Given the description of an element on the screen output the (x, y) to click on. 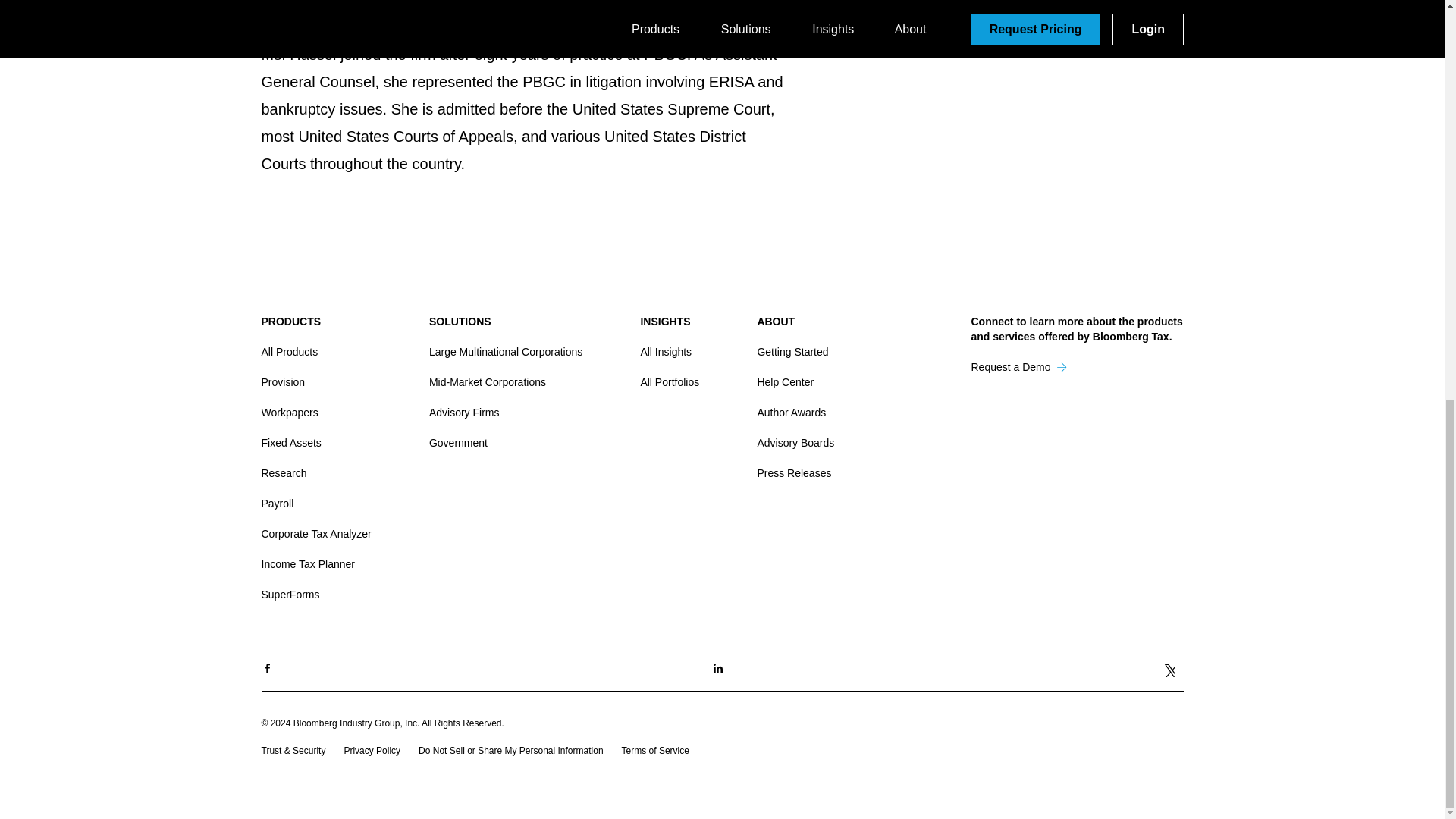
Follow on Facebook (271, 667)
Follow on LinkedIn (721, 667)
Follow on X (1171, 667)
